Given the description of an element on the screen output the (x, y) to click on. 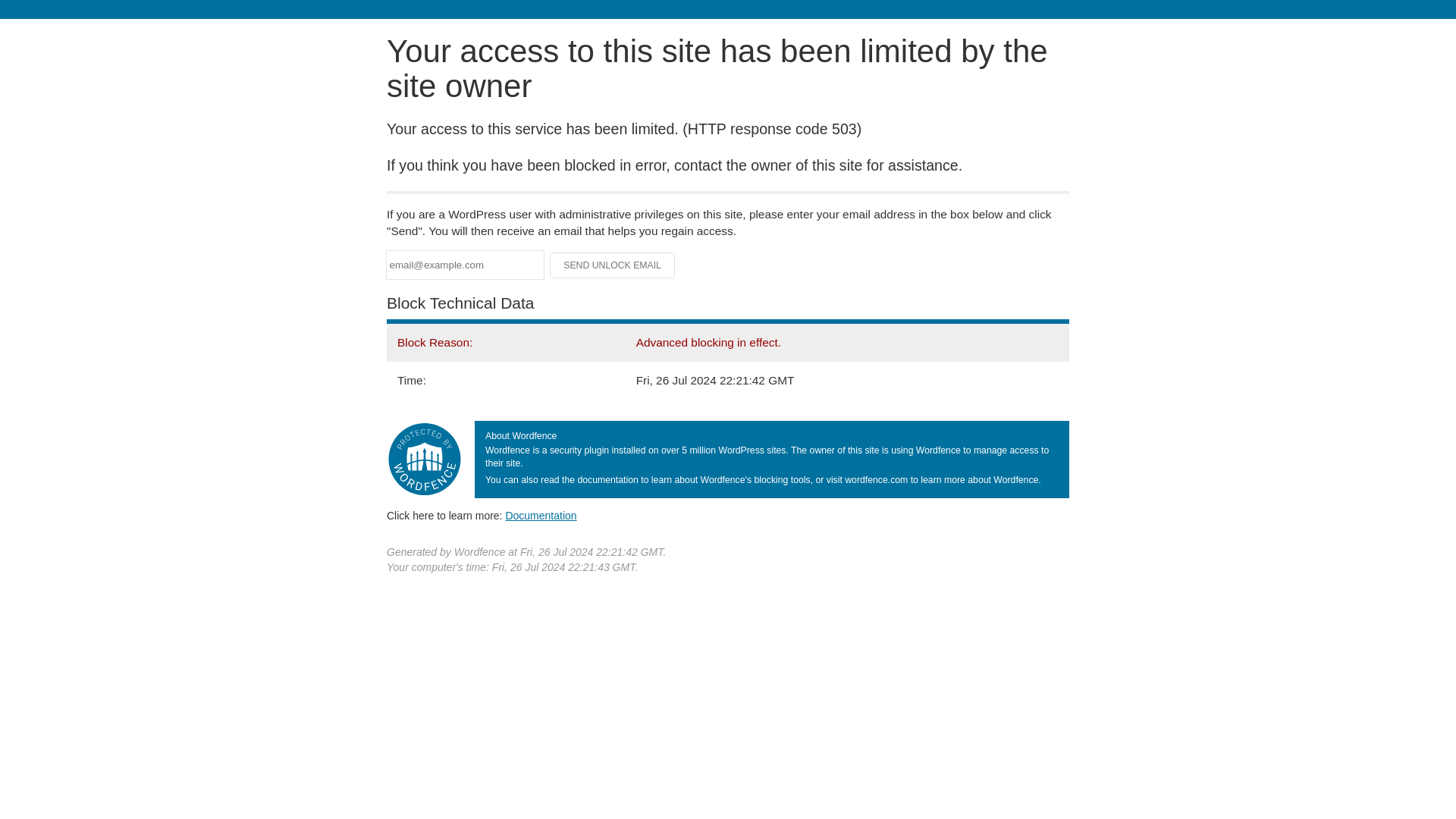
Send Unlock Email (612, 265)
Send Unlock Email (612, 265)
Documentation (540, 515)
